Given the description of an element on the screen output the (x, y) to click on. 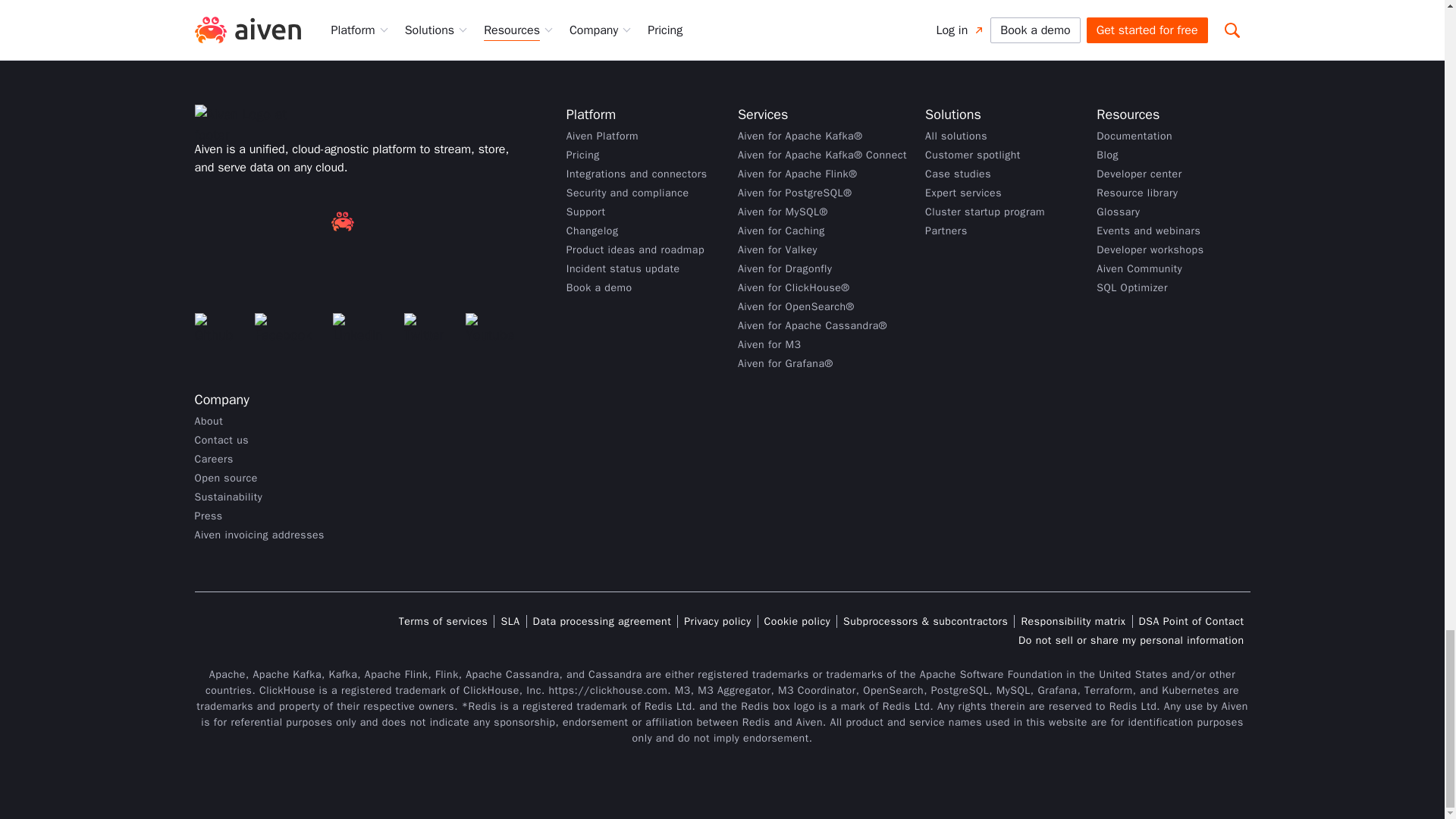
Youtube (494, 328)
Github (218, 328)
Facebook (287, 328)
Twitter (428, 328)
LinkedIn (362, 328)
